Given the description of an element on the screen output the (x, y) to click on. 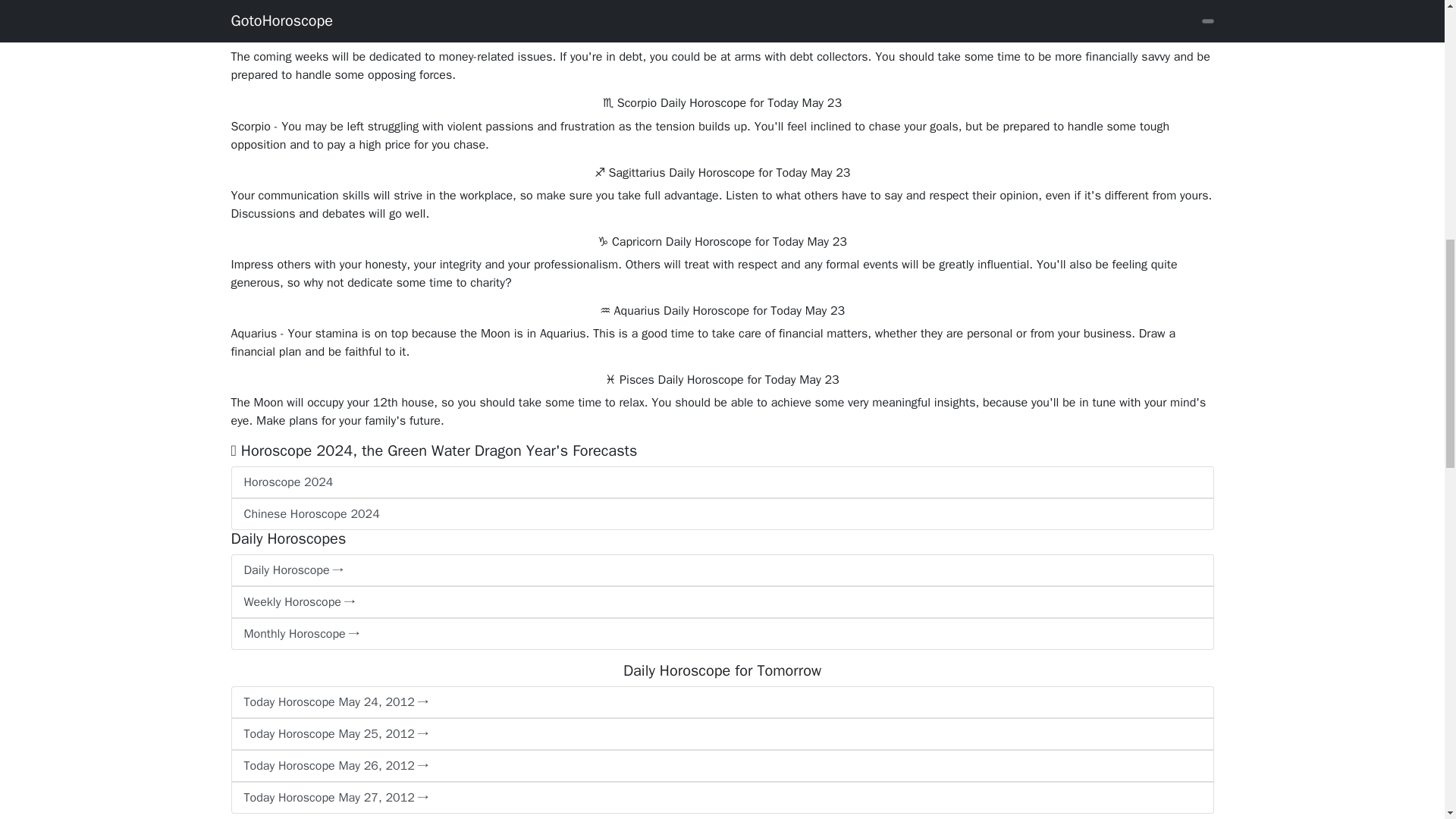
Chinese Horoscope 2024 (721, 513)
Horoscope 2024 (721, 481)
Today Horoscope May 24, 2012 (721, 702)
Today Horoscope May 25, 2012 (721, 734)
Today Horoscope May 26, 2012 (721, 766)
Today Horoscope May 27, 2012 (721, 798)
Weekly Horoscope (721, 602)
Daily Horoscope (721, 570)
Monthly Horoscope (721, 634)
